Given the description of an element on the screen output the (x, y) to click on. 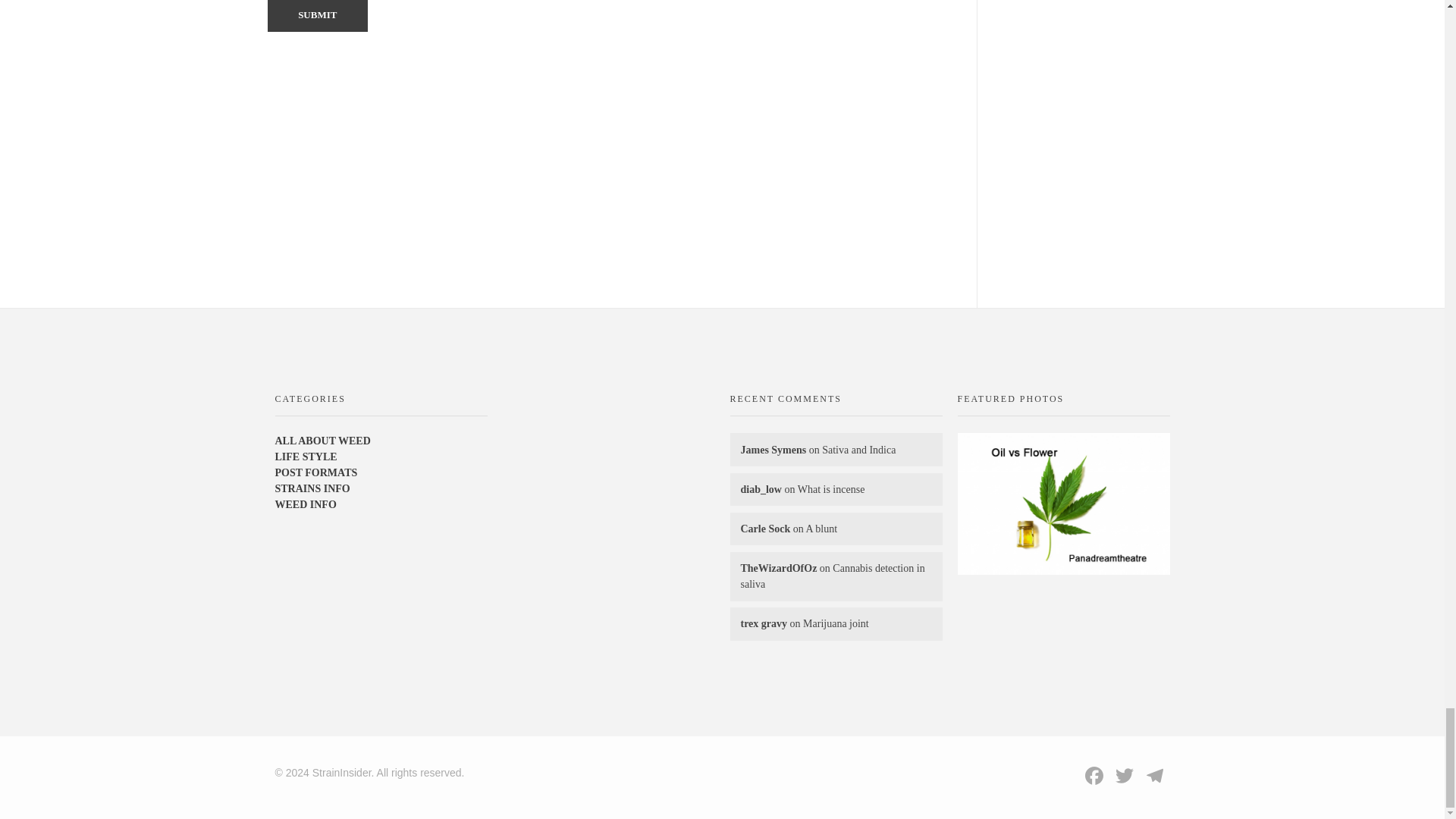
Submit (317, 16)
Submit (317, 16)
